Given the description of an element on the screen output the (x, y) to click on. 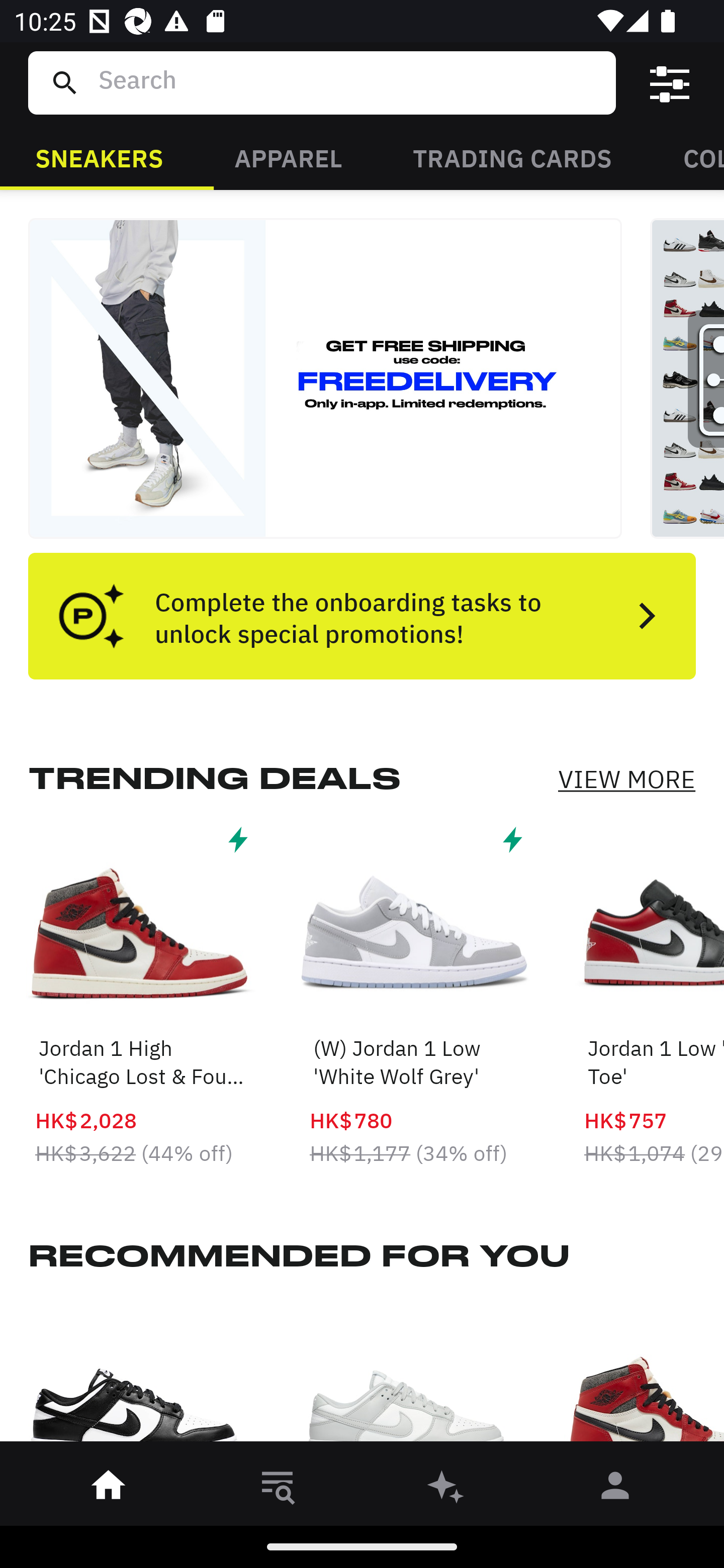
Search (349, 82)
 (669, 82)
SNEAKERS (99, 156)
APPAREL (287, 156)
TRADING CARDS (512, 156)
VIEW MORE (626, 779)
󰋜 (108, 1488)
󱎸 (277, 1488)
󰫢 (446, 1488)
󰀄 (615, 1488)
